Given the description of an element on the screen output the (x, y) to click on. 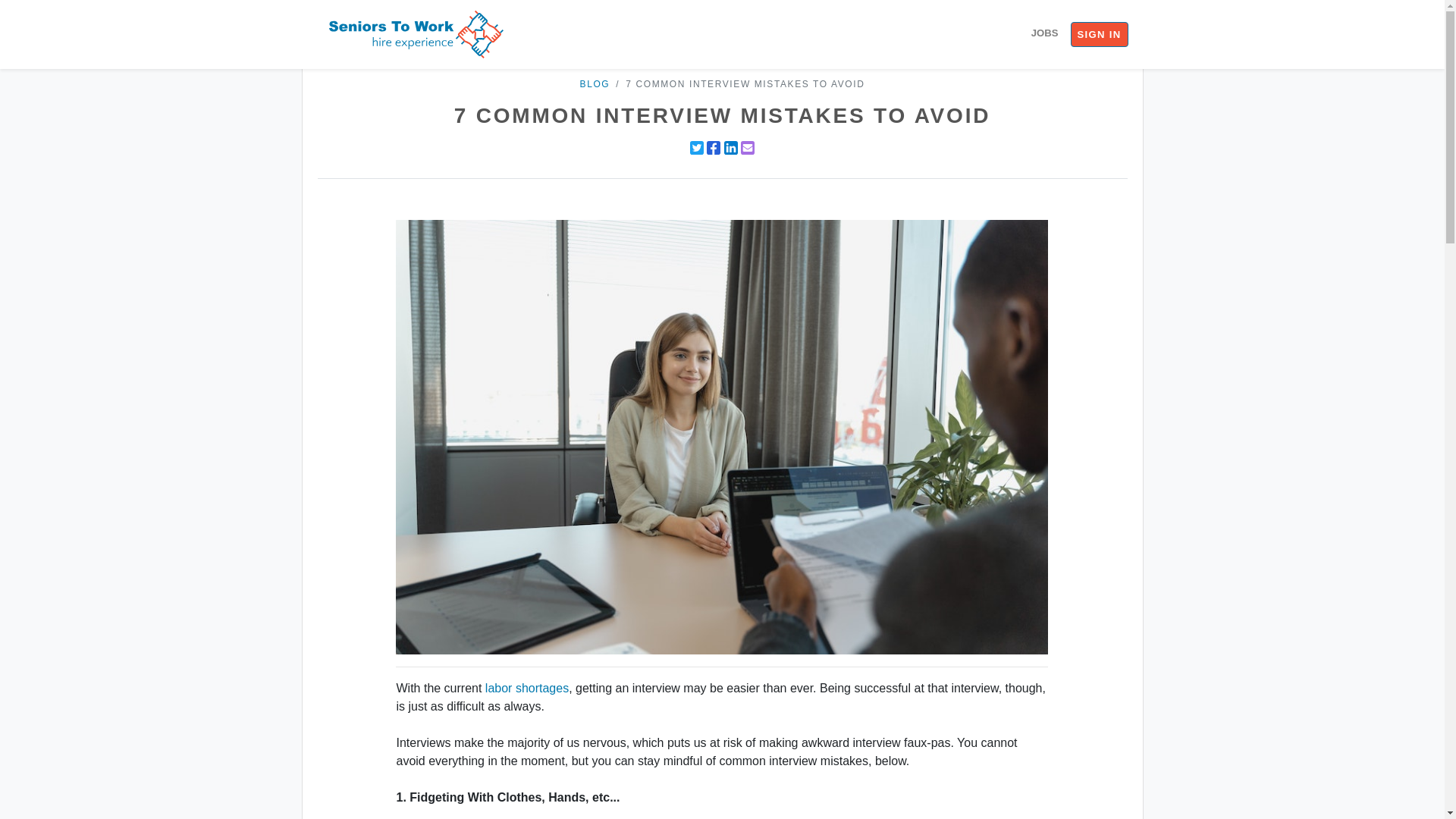
Share to Facebook (713, 147)
Share to Email (747, 147)
Share to Linkedin (730, 147)
BLOG (594, 83)
labor shortages (526, 687)
Share to Twitter (696, 147)
